Given the description of an element on the screen output the (x, y) to click on. 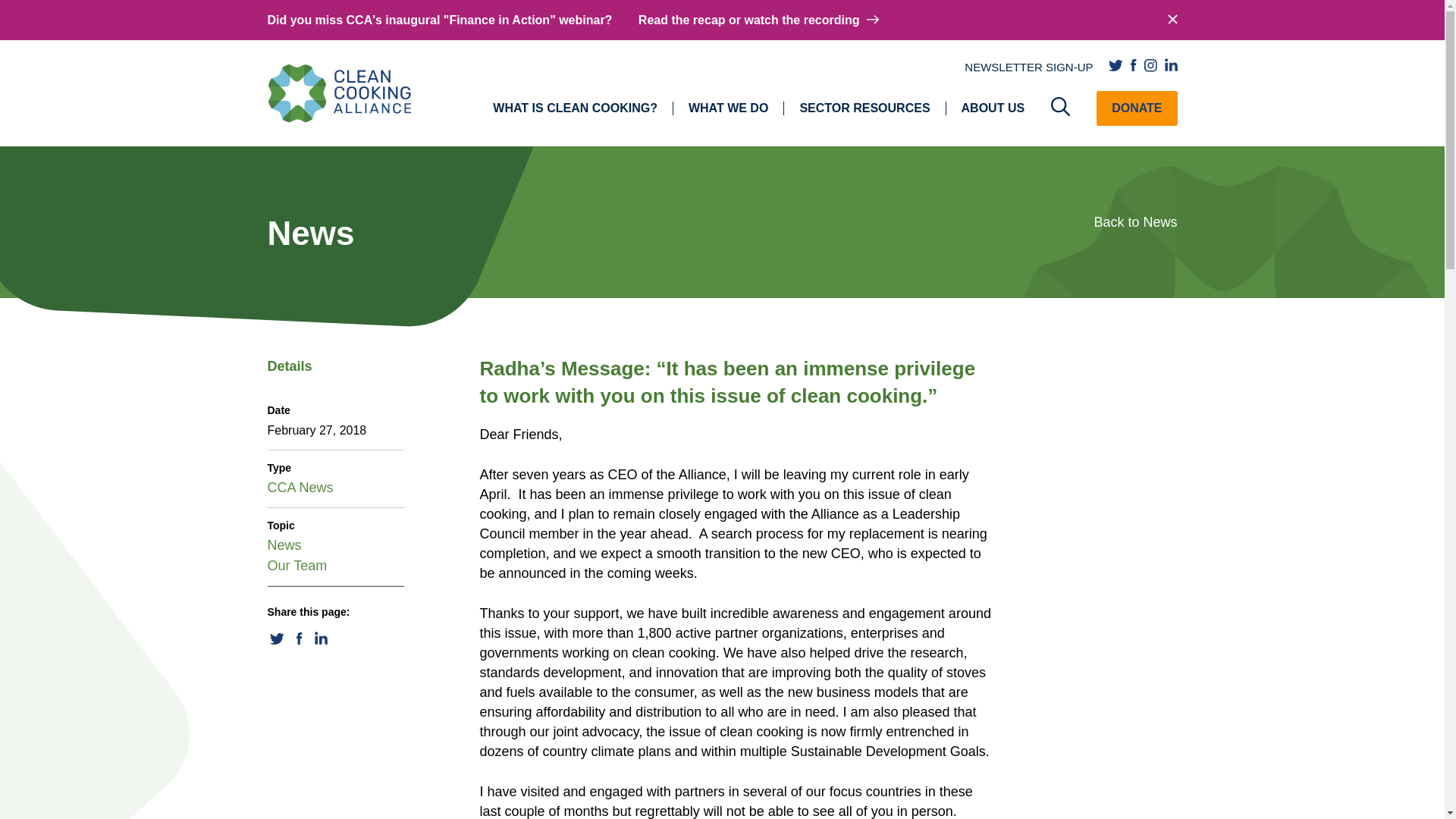
Clean Cooking Alliance (338, 92)
DONATE (1136, 108)
Read the recap or watch the recording (759, 19)
Share on LinkedIn (320, 643)
Share on Twitter (275, 643)
ABOUT US (993, 108)
Clean Cooking Alliance (338, 93)
NEWSLETTER SIGN-UP (1028, 66)
Share on Facebook (298, 643)
WHAT IS CLEAN COOKING? (574, 108)
